Given the description of an element on the screen output the (x, y) to click on. 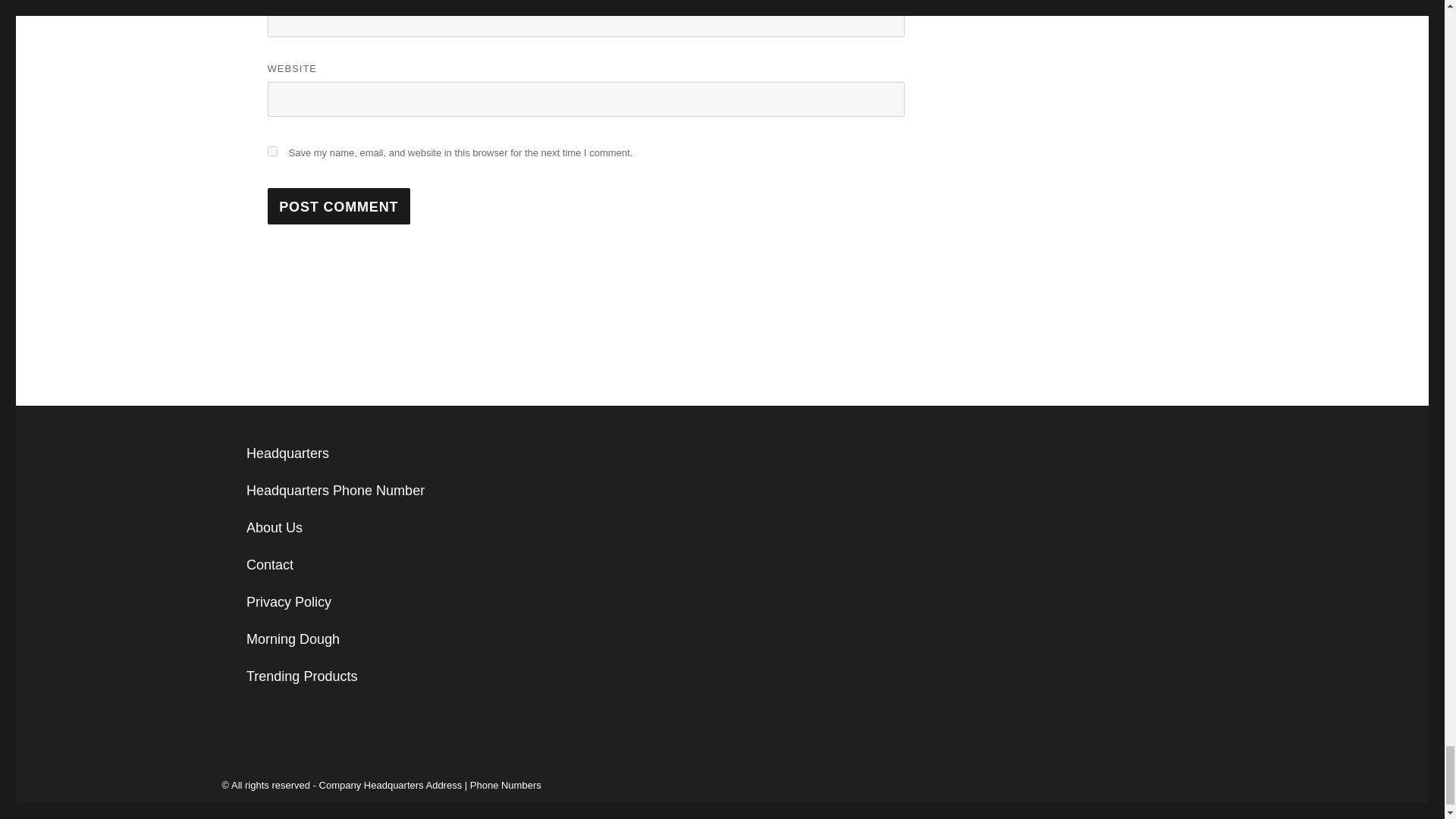
Post Comment (338, 205)
Post Comment (338, 205)
yes (271, 151)
